Given the description of an element on the screen output the (x, y) to click on. 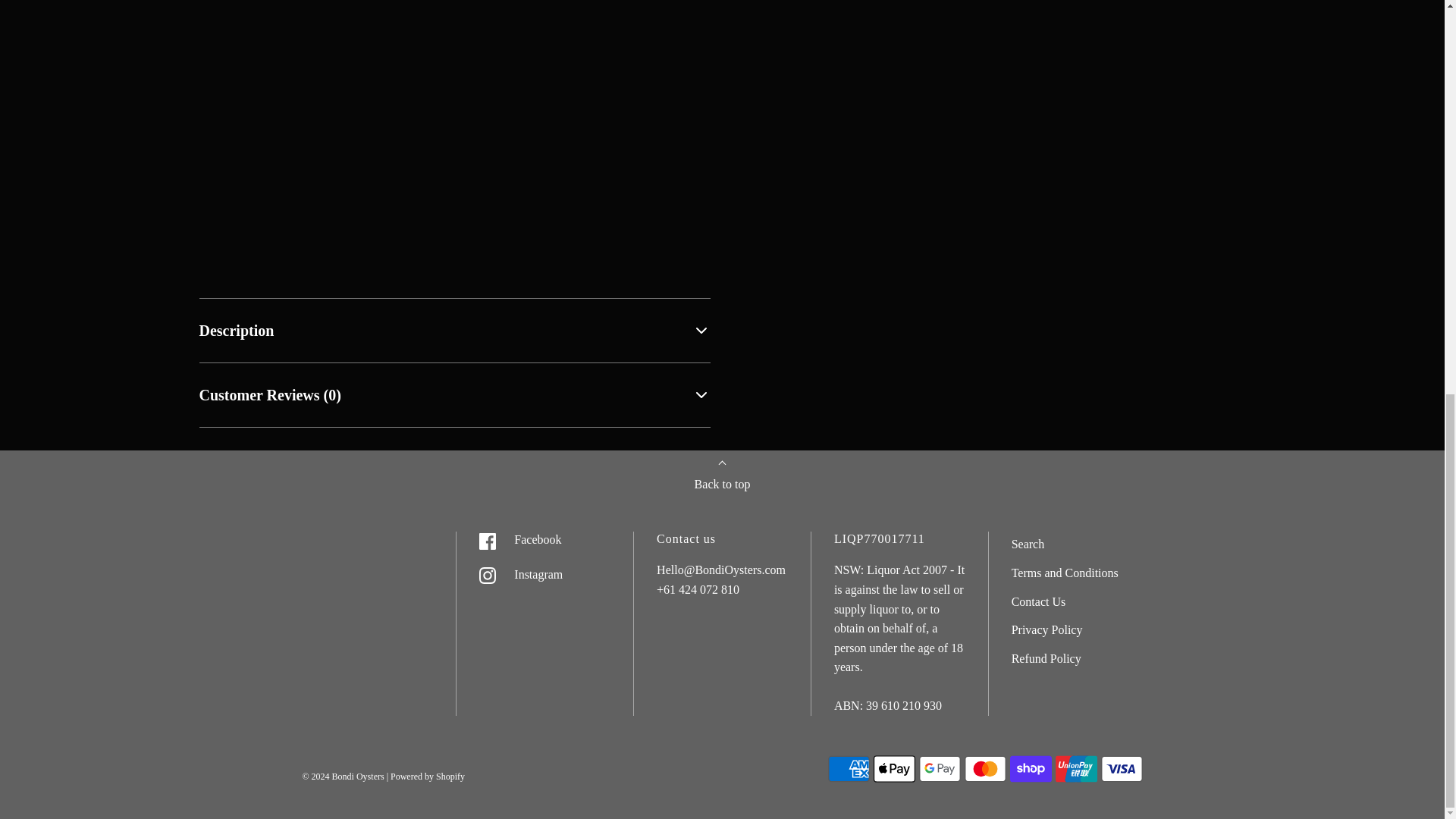
Mastercard (984, 768)
Visa (1121, 768)
Google Pay (939, 768)
Apple Pay (894, 768)
Shop Pay (1030, 768)
American Express (848, 768)
Facebook icon (487, 541)
Instagram icon (487, 575)
Union Pay (1076, 768)
